Given the description of an element on the screen output the (x, y) to click on. 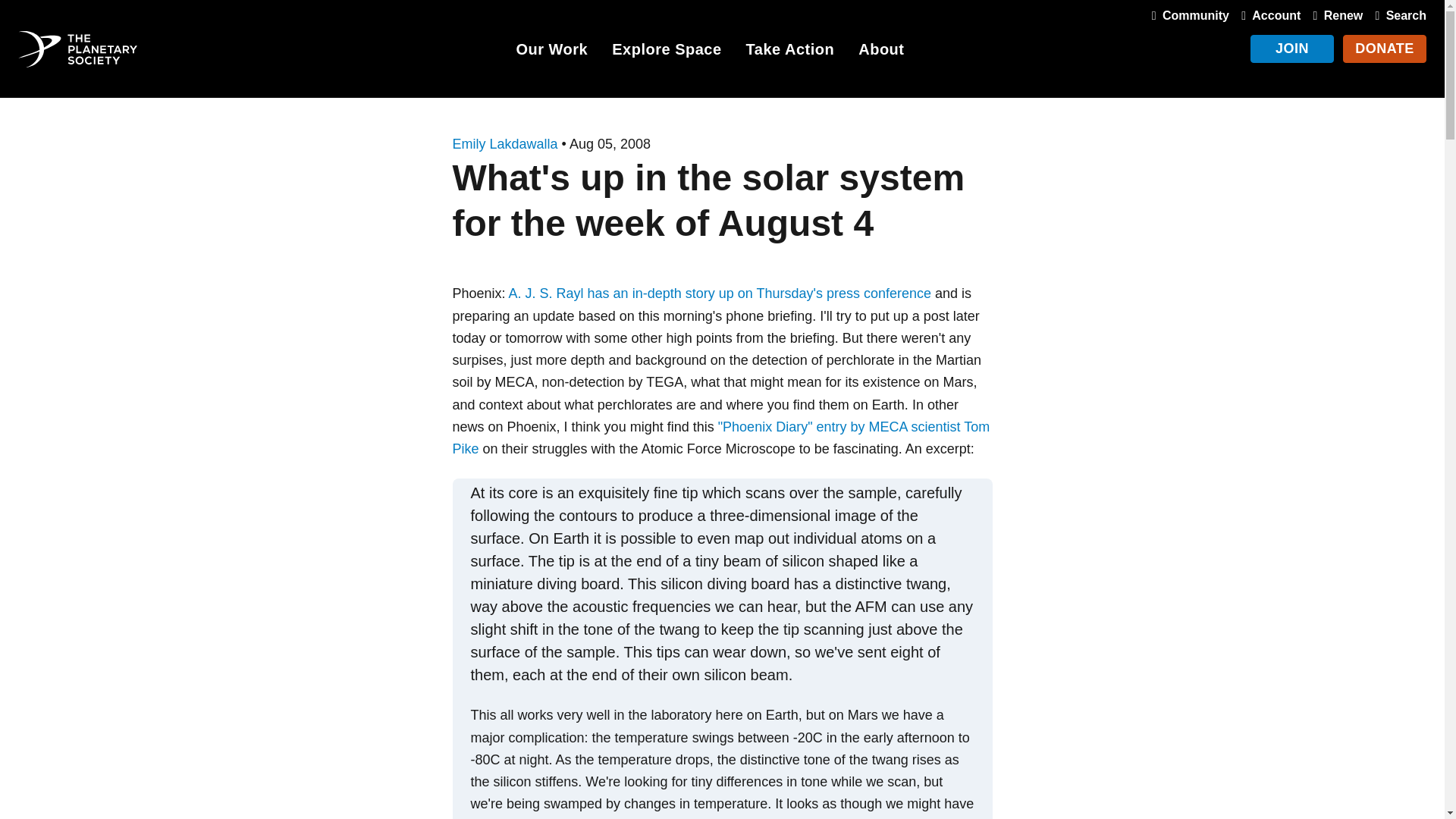
Search (1397, 15)
Take Action (789, 51)
Explore Space (665, 51)
About (881, 51)
Renew (1334, 15)
JOIN (1291, 49)
Community (1186, 15)
Our Work (551, 51)
DONATE (1384, 49)
Account (1267, 15)
